Given the description of an element on the screen output the (x, y) to click on. 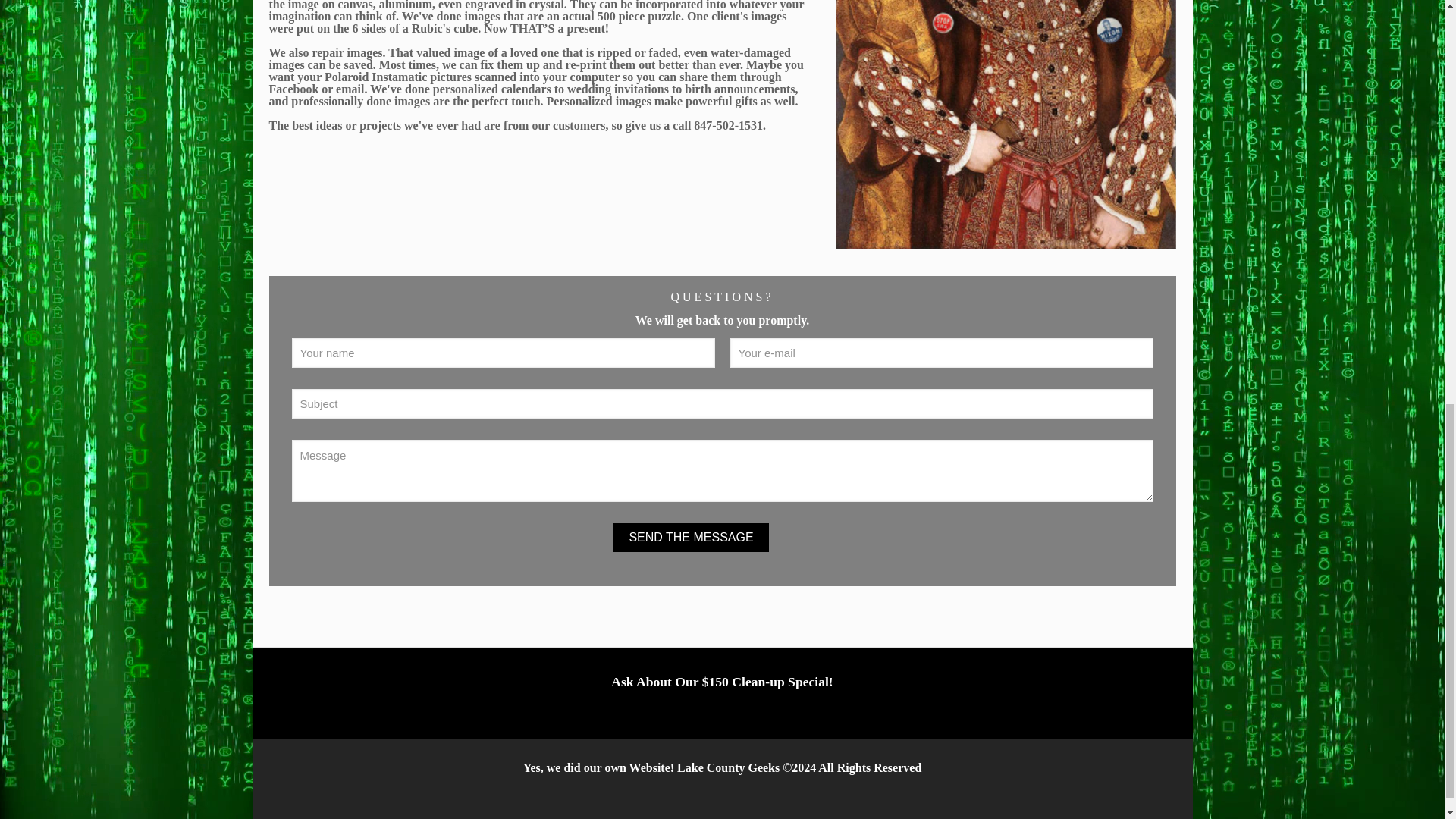
SEND THE MESSAGE (690, 537)
SEND THE MESSAGE (690, 537)
